Given the description of an element on the screen output the (x, y) to click on. 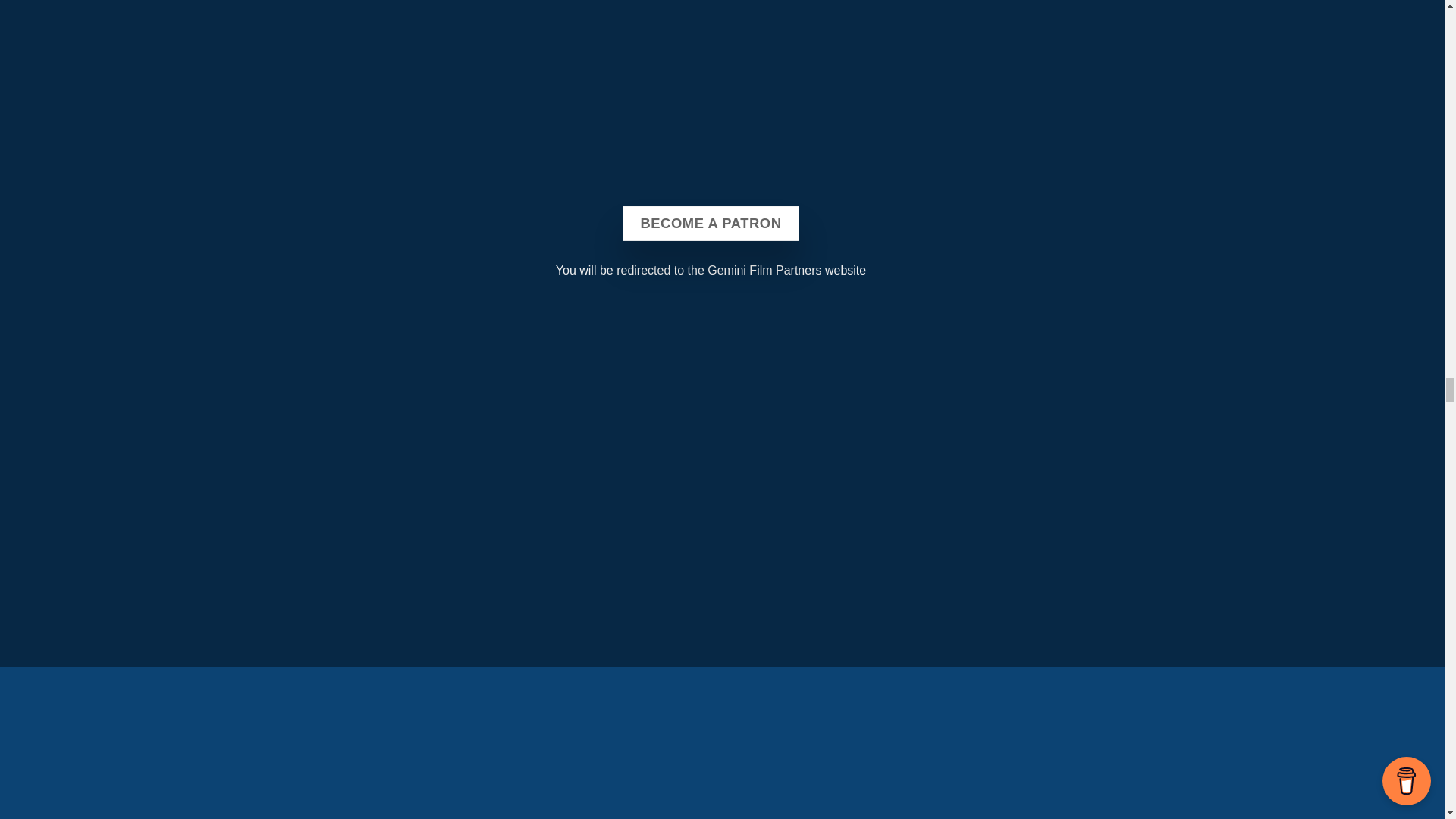
BECOME A PATRON (710, 223)
